Given the description of an element on the screen output the (x, y) to click on. 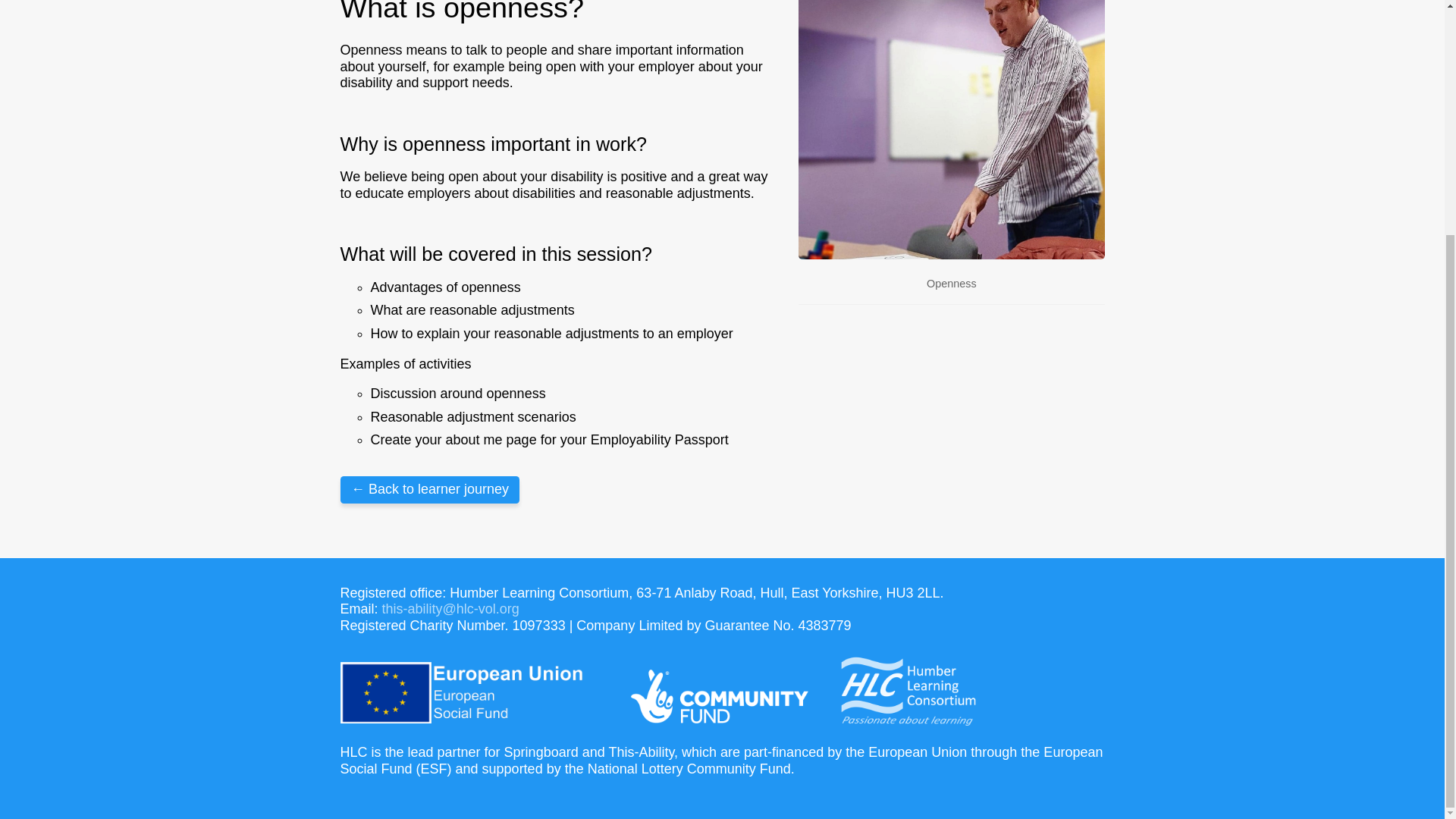
Lottery Funded (719, 696)
Learner Journey (429, 489)
Humber Learning Consortium (907, 691)
Email us (450, 608)
